Given the description of an element on the screen output the (x, y) to click on. 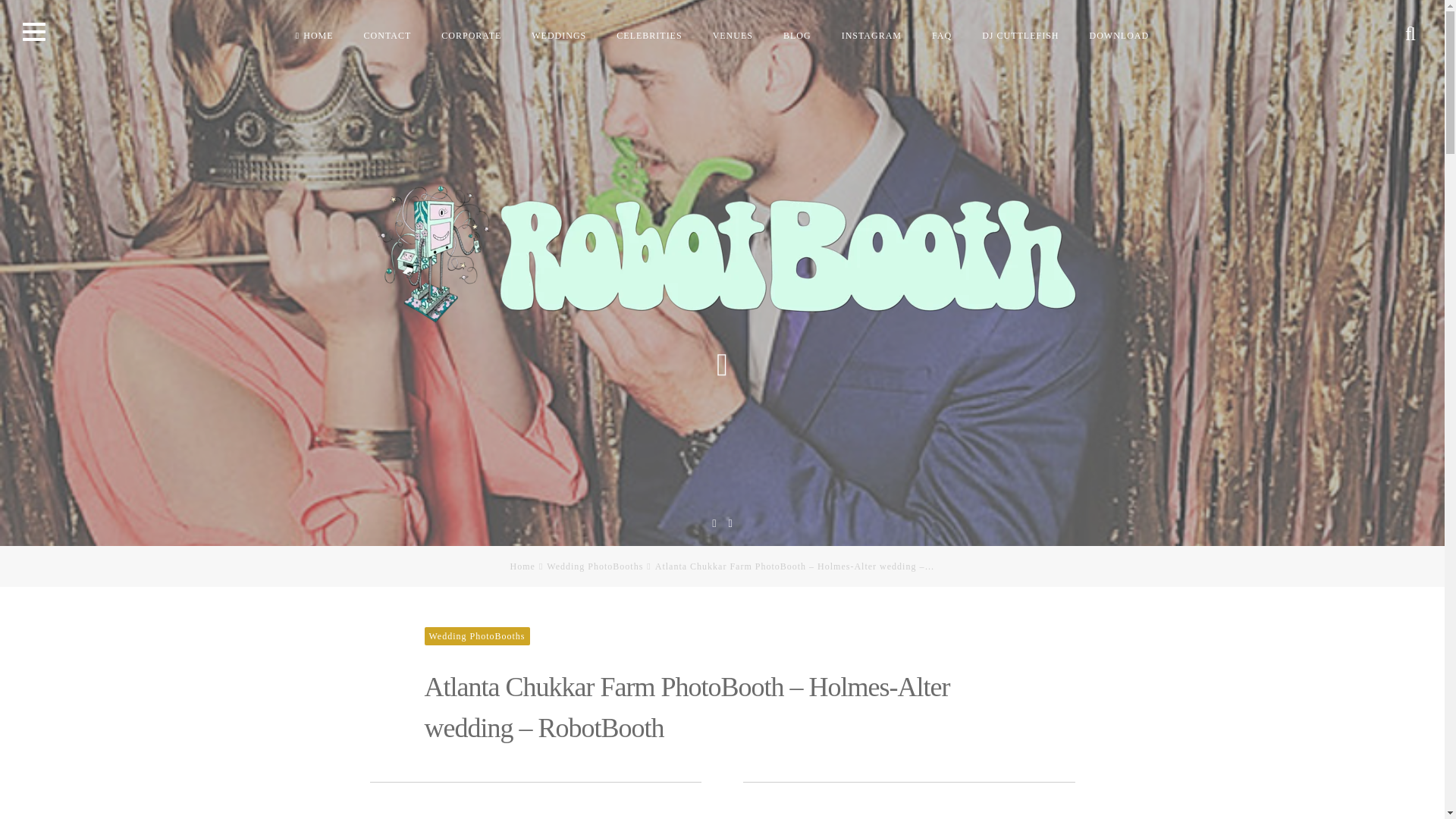
Instagram (730, 522)
YouTube (714, 522)
Home (523, 566)
Wedding PhotoBooths (477, 636)
DOWNLOAD (1118, 34)
CONTACT (387, 34)
WEDDINGS (558, 34)
VENUES (732, 34)
INSTAGRAM (871, 34)
Wedding PhotoBooths (595, 566)
FAQ (941, 34)
BLOG (797, 34)
HOME (314, 34)
CELEBRITIES (648, 34)
CORPORATE (471, 34)
